Given the description of an element on the screen output the (x, y) to click on. 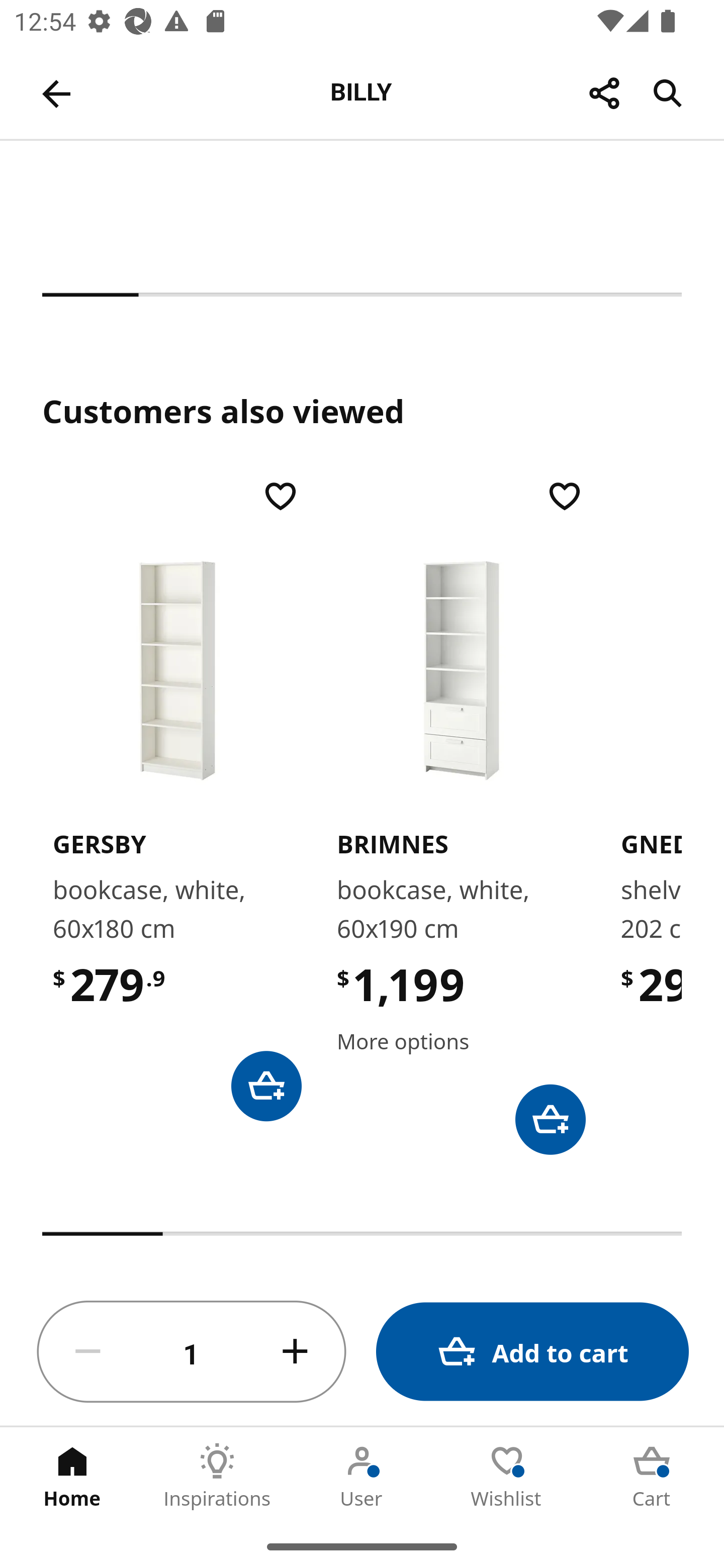
​G​E​R​S​B​Y​
bookcase, white, 60x180 cm
$
279
.9 (176, 798)
Add to cart (531, 1352)
1 (191, 1352)
Home
Tab 1 of 5 (72, 1476)
Inspirations
Tab 2 of 5 (216, 1476)
User
Tab 3 of 5 (361, 1476)
Wishlist
Tab 4 of 5 (506, 1476)
Cart
Tab 5 of 5 (651, 1476)
